Given the description of an element on the screen output the (x, y) to click on. 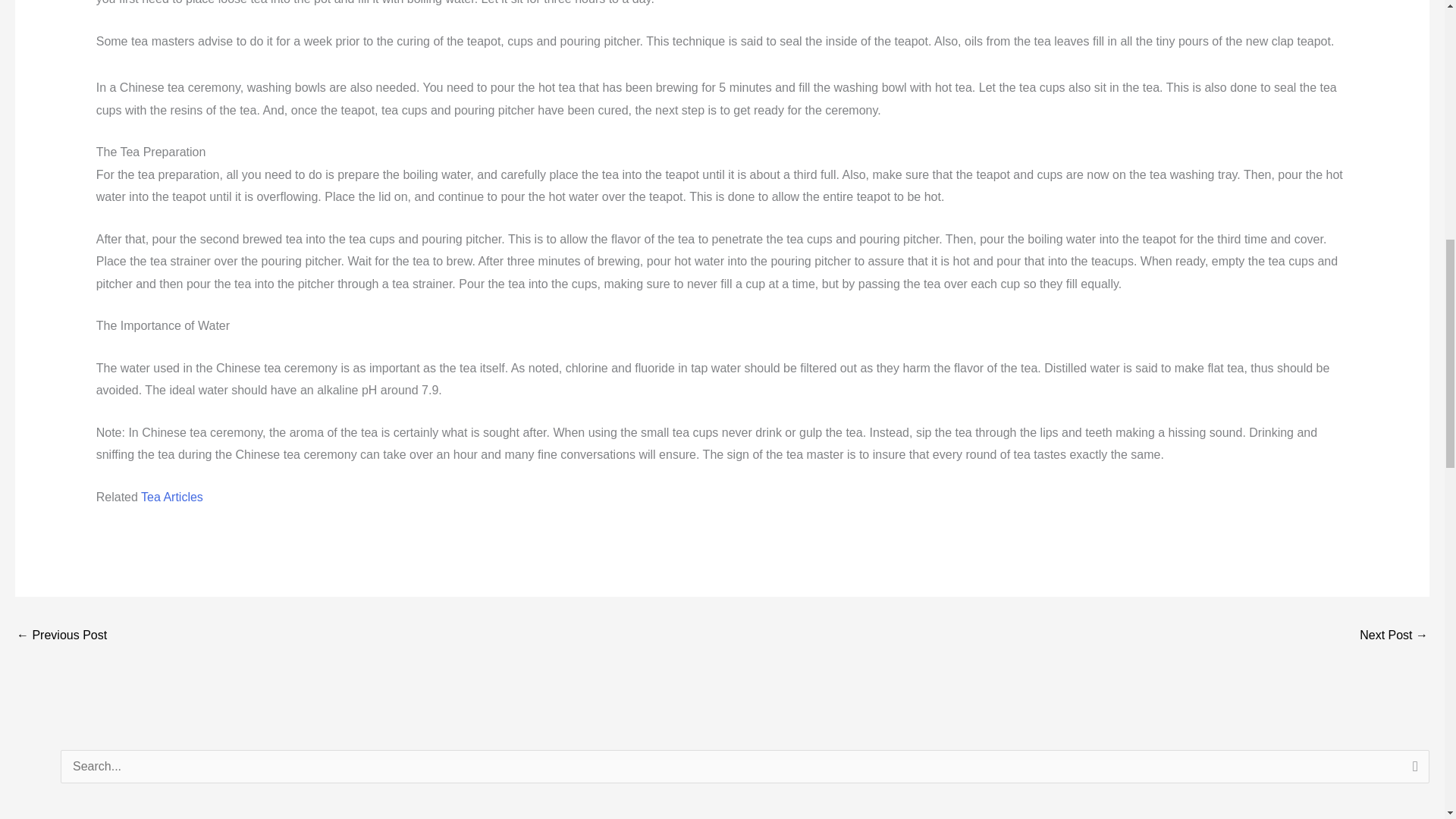
Tea Articles (172, 496)
Six Tips For When You Buy Coffee Beans (1393, 636)
